Given the description of an element on the screen output the (x, y) to click on. 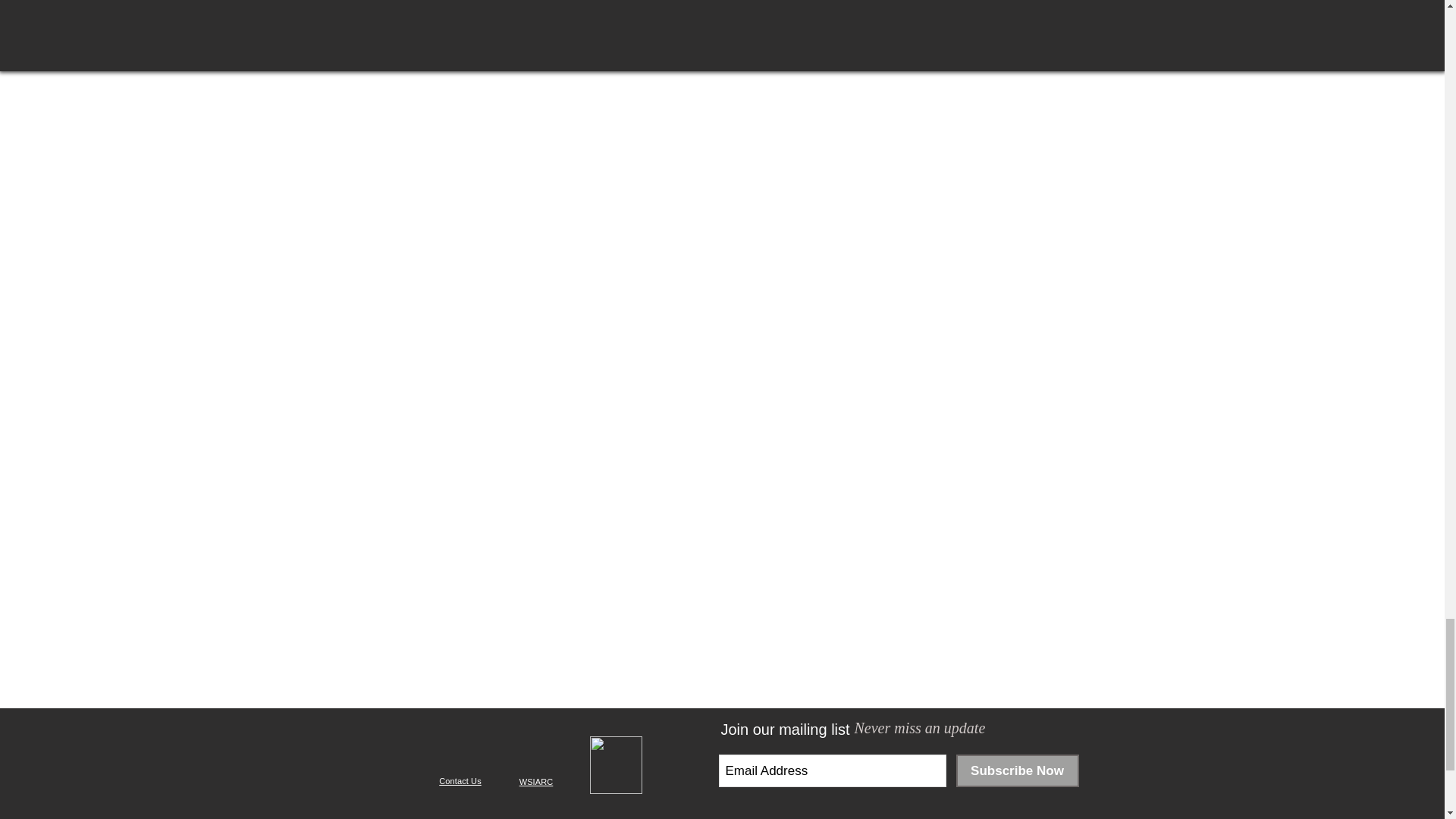
Contact Us       (467, 780)
Subscribe Now (1016, 770)
WSIARC (536, 781)
